Given the description of an element on the screen output the (x, y) to click on. 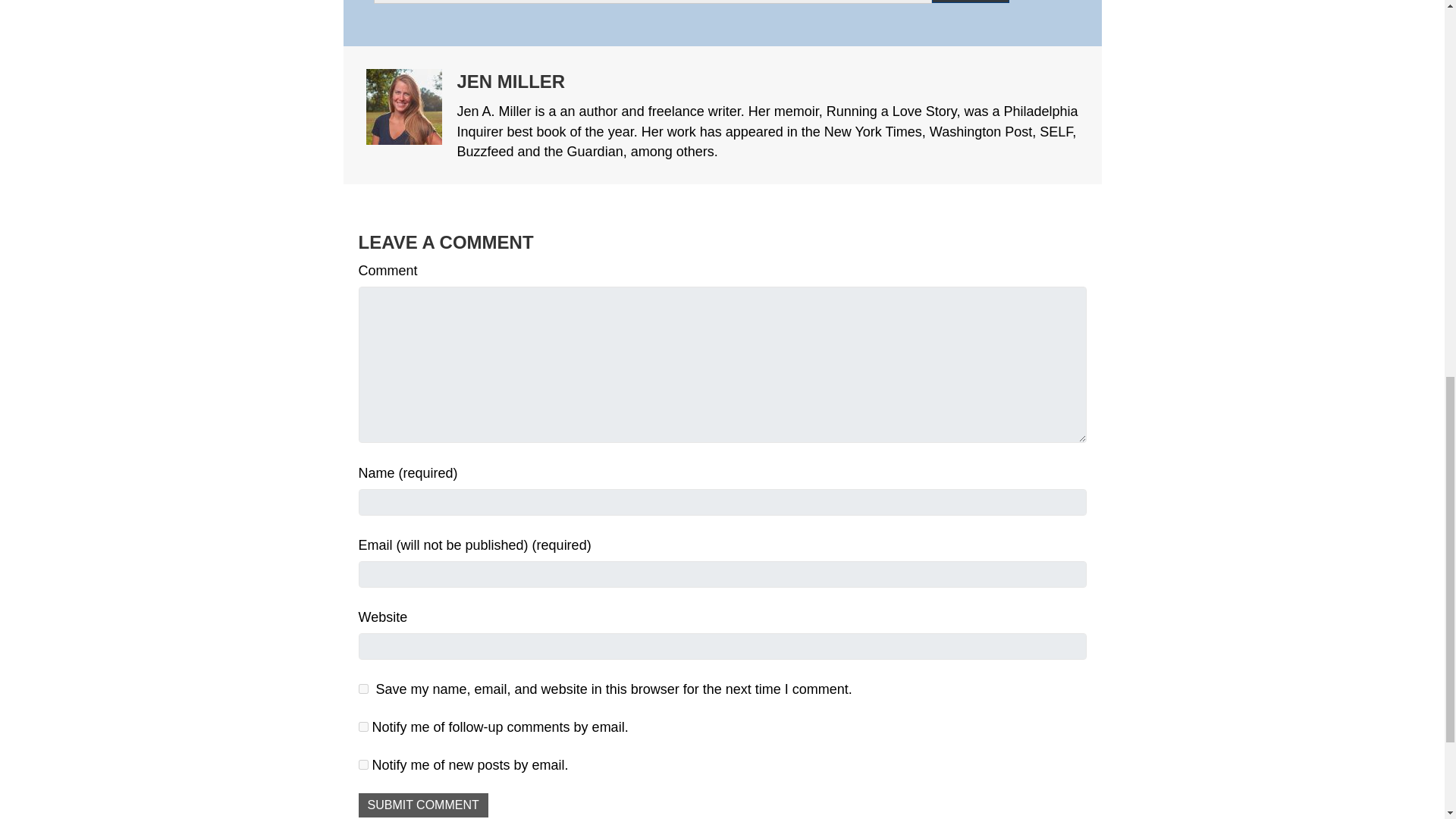
SUBSCRIBE (970, 1)
Submit Comment (422, 804)
subscribe (363, 726)
subscribe (363, 764)
yes (363, 688)
Submit Comment (422, 804)
